Given the description of an element on the screen output the (x, y) to click on. 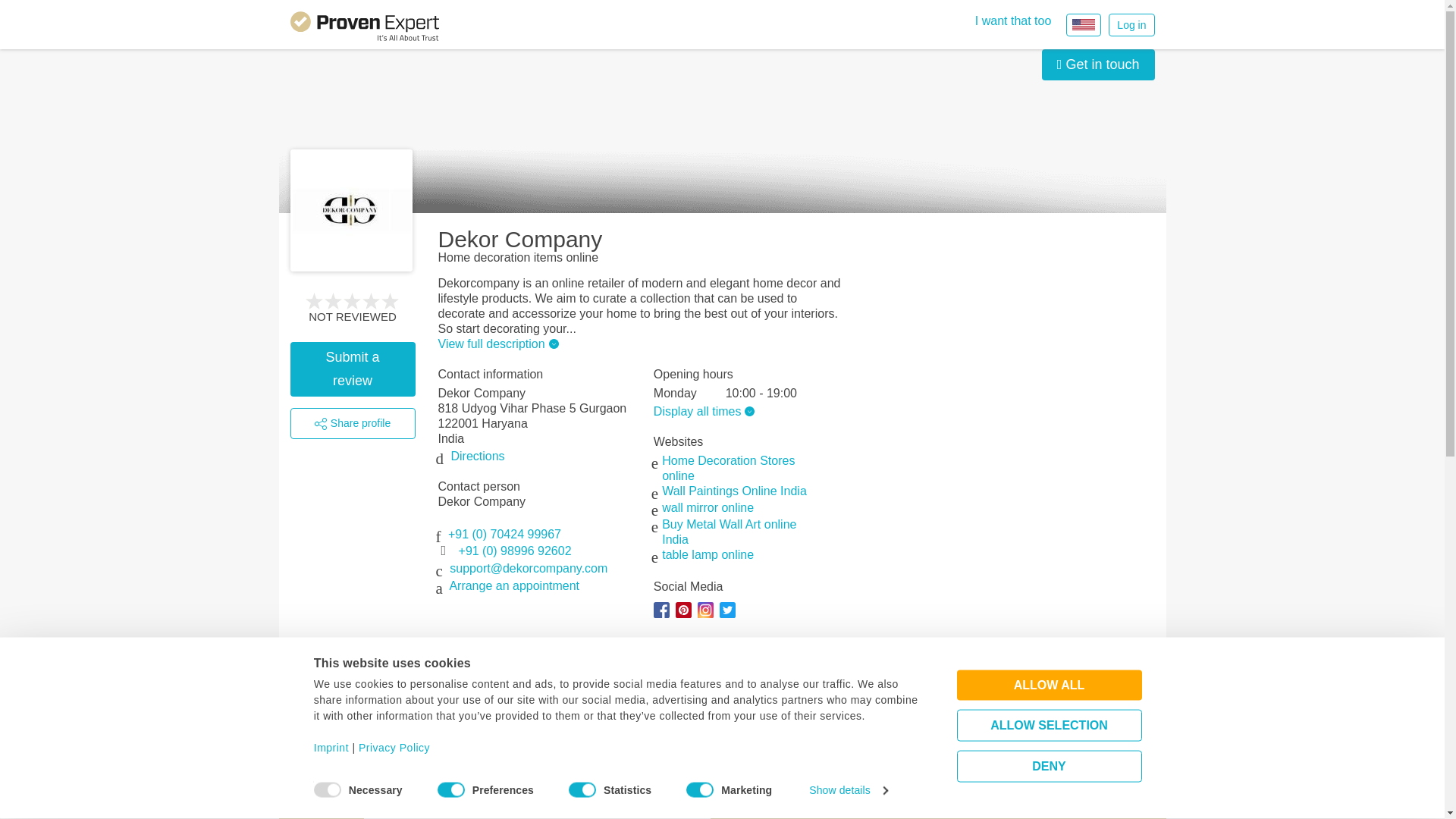
Show details (847, 789)
Imprint (331, 747)
Privacy Policy (393, 747)
